Given the description of an element on the screen output the (x, y) to click on. 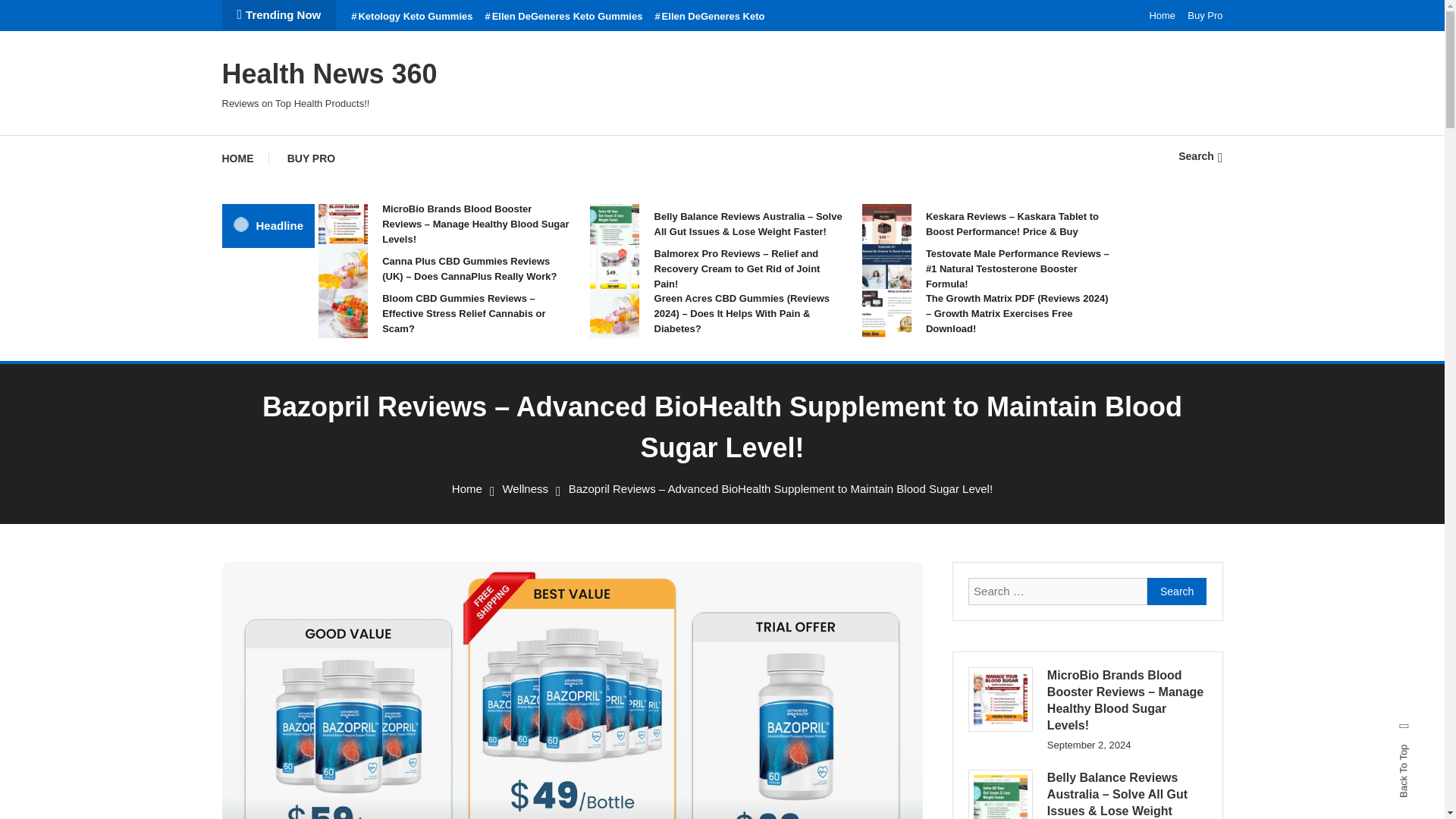
BUY PRO (311, 157)
Health News 360 (328, 73)
Search (768, 434)
Wellness (525, 488)
Search (1177, 591)
Search (1200, 155)
HOME (244, 157)
Home (466, 488)
Ketology Keto Gummies (410, 16)
Home (1161, 15)
